Given the description of an element on the screen output the (x, y) to click on. 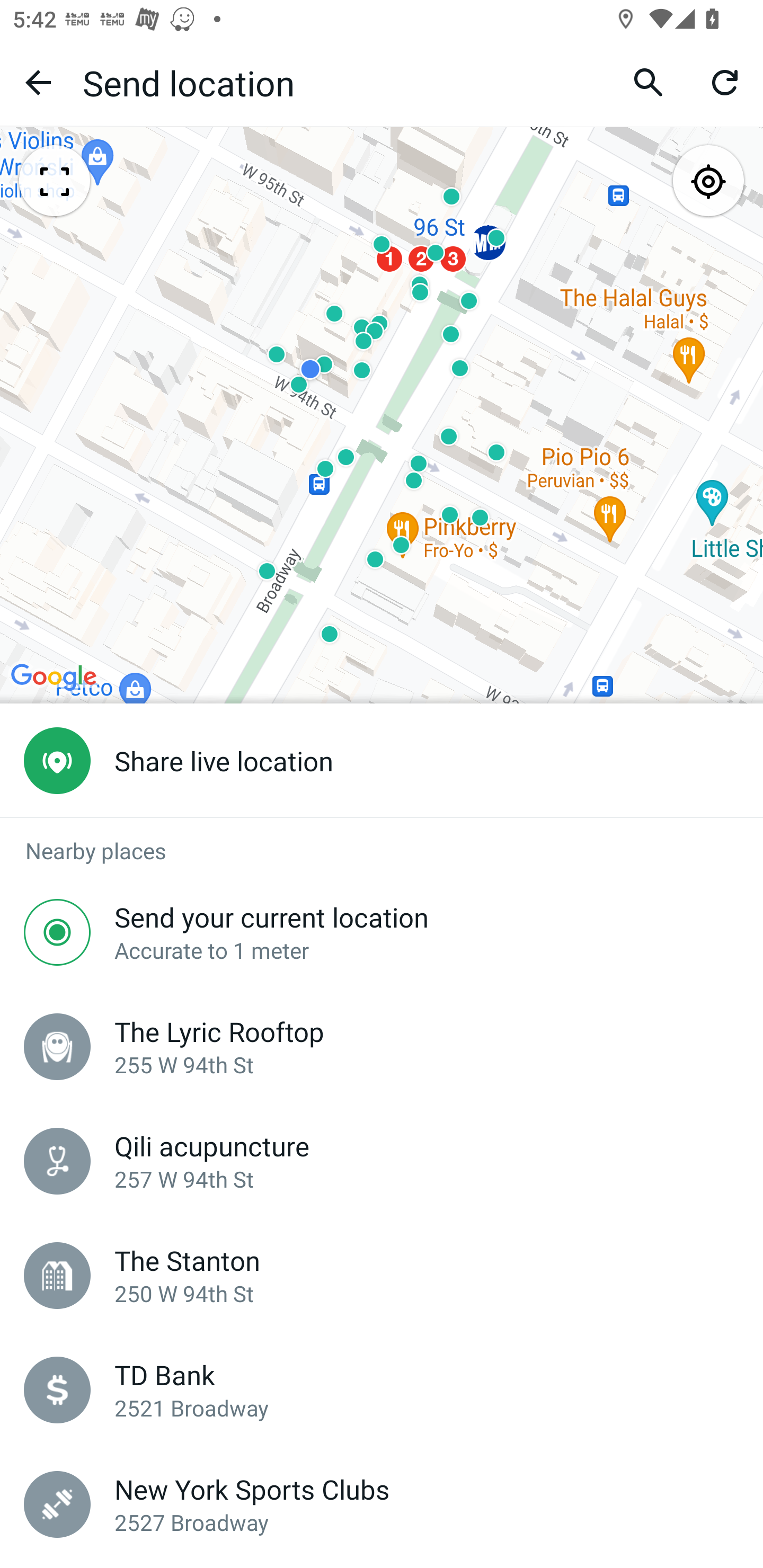
Navigate up (38, 82)
Search (648, 81)
Refresh (724, 81)
Hide places list (54, 181)
Move to your location (707, 181)
Share live location (381, 761)
Send your current location Accurate to 1 meter (381, 931)
The Lyric Rooftop 255 W 94th St (381, 1046)
Qili acupuncture 257 W 94th St (381, 1160)
The Stanton 250 W 94th St (381, 1275)
TD Bank 2521 Broadway (381, 1389)
New York Sports Clubs 2527 Broadway (381, 1504)
